Given the description of an element on the screen output the (x, y) to click on. 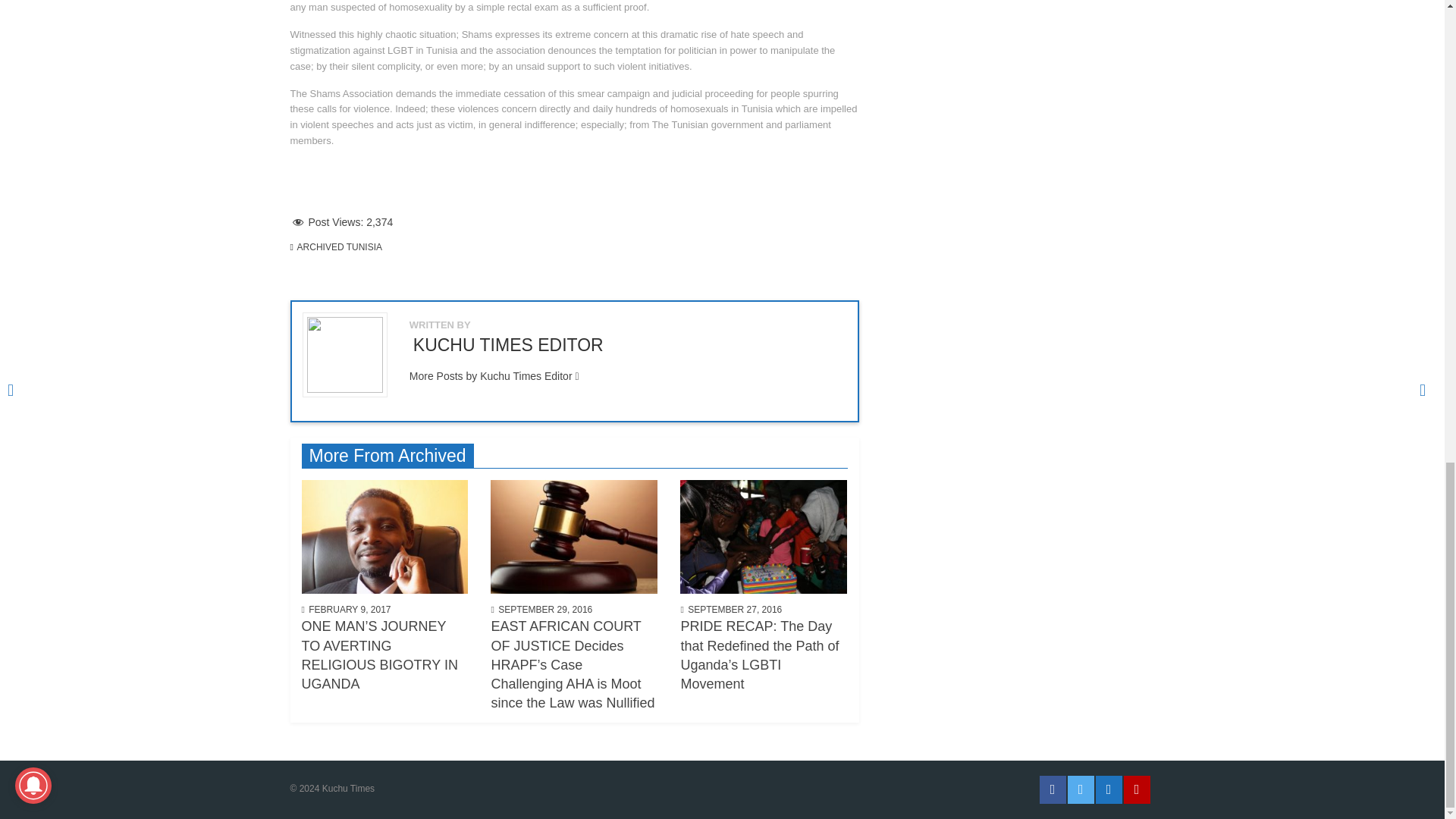
YouTube (1137, 789)
Facebook (1052, 789)
Instagram (1107, 789)
Twitter (1080, 789)
